Given the description of an element on the screen output the (x, y) to click on. 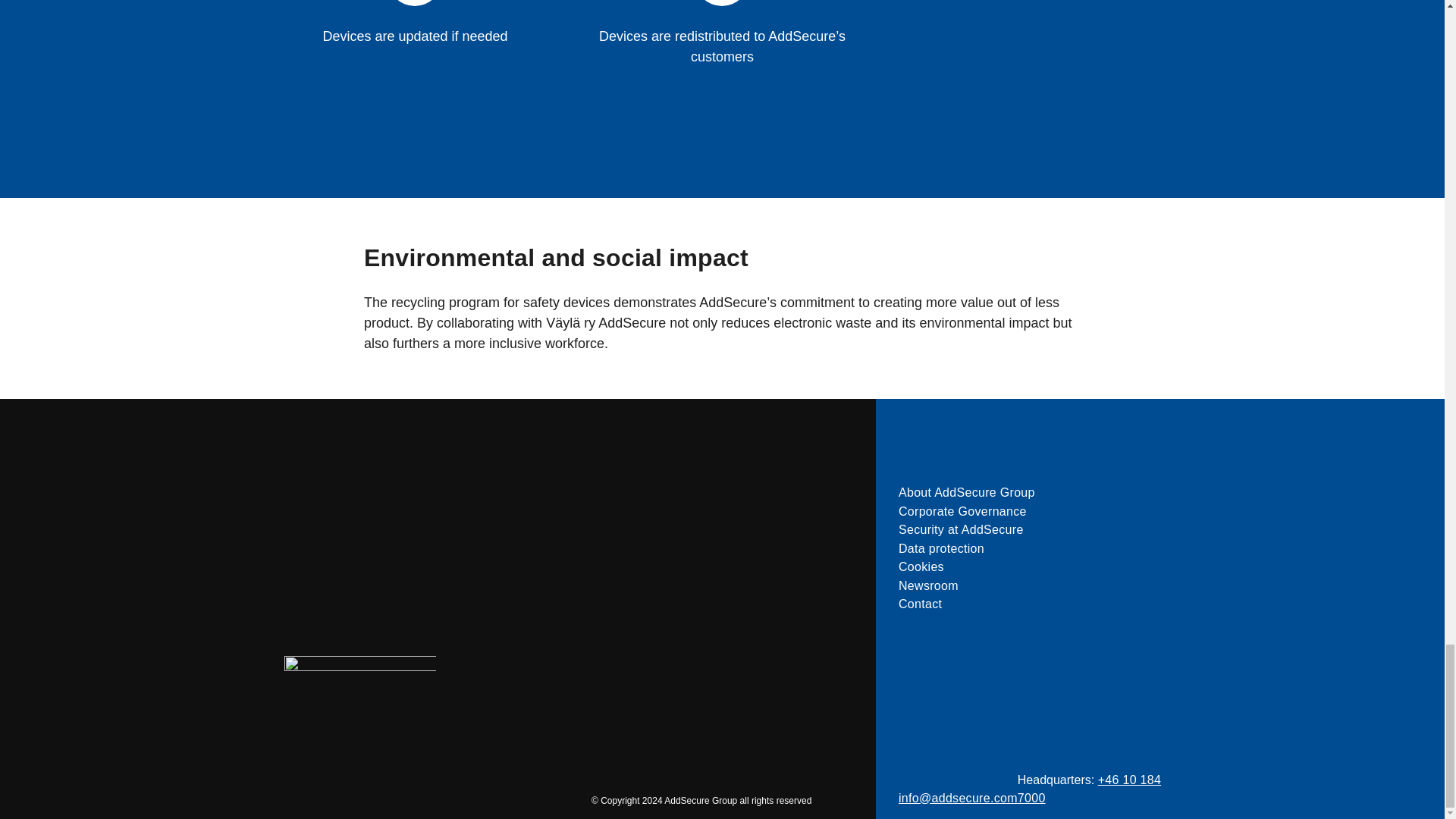
Data protection (1035, 548)
About AddSecure Group (1035, 493)
Security at AddSecure (1035, 529)
Contact (1035, 604)
Corporate Governance (1035, 511)
AddSecure Group (359, 715)
Newsroom (1035, 586)
Cookies (1035, 566)
